Given the description of an element on the screen output the (x, y) to click on. 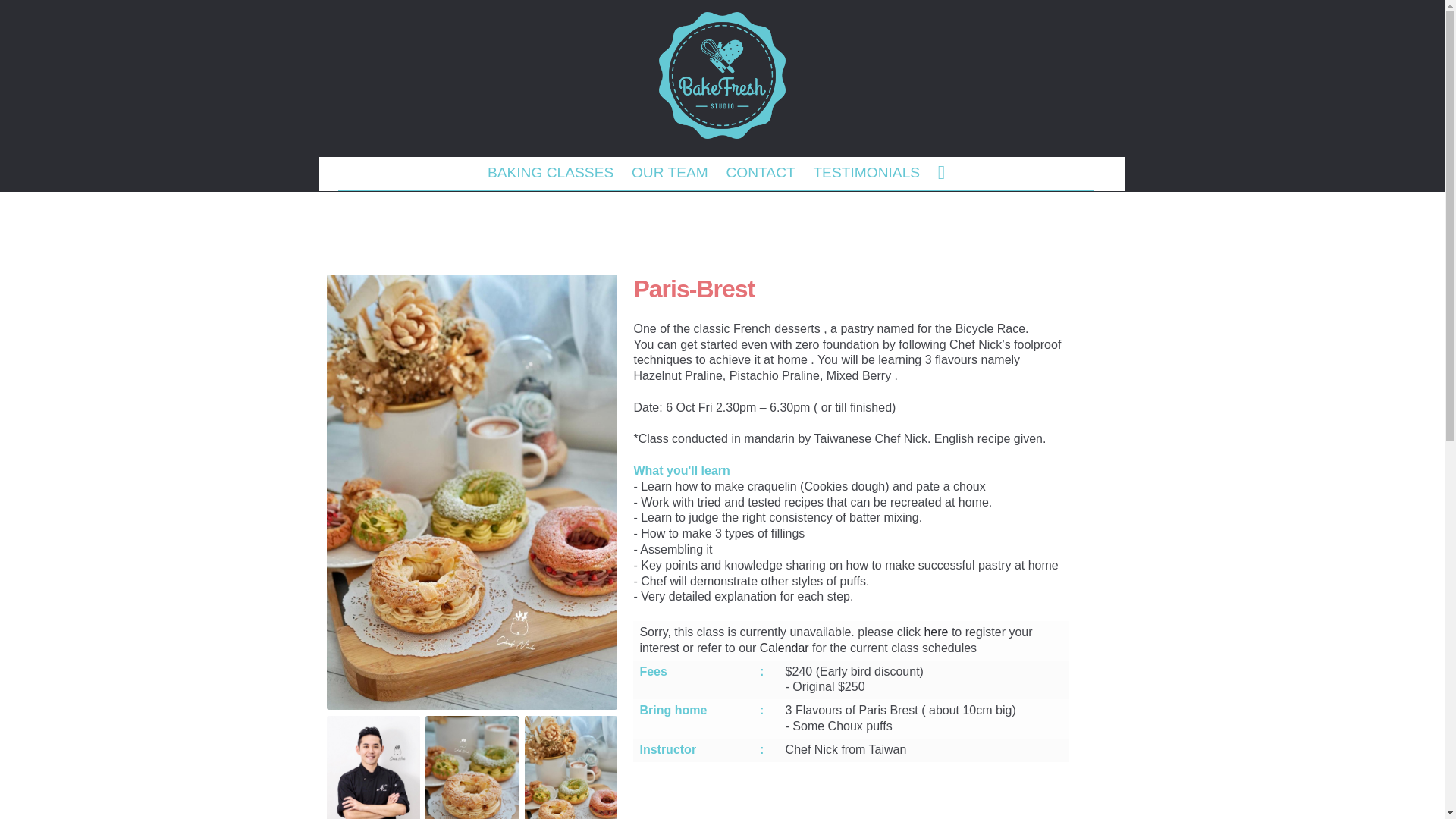
CONTACT (761, 173)
here (935, 631)
OUR TEAM (669, 173)
BAKING CLASSES (550, 173)
TESTIMONIALS (866, 173)
Calendar (784, 647)
